Given the description of an element on the screen output the (x, y) to click on. 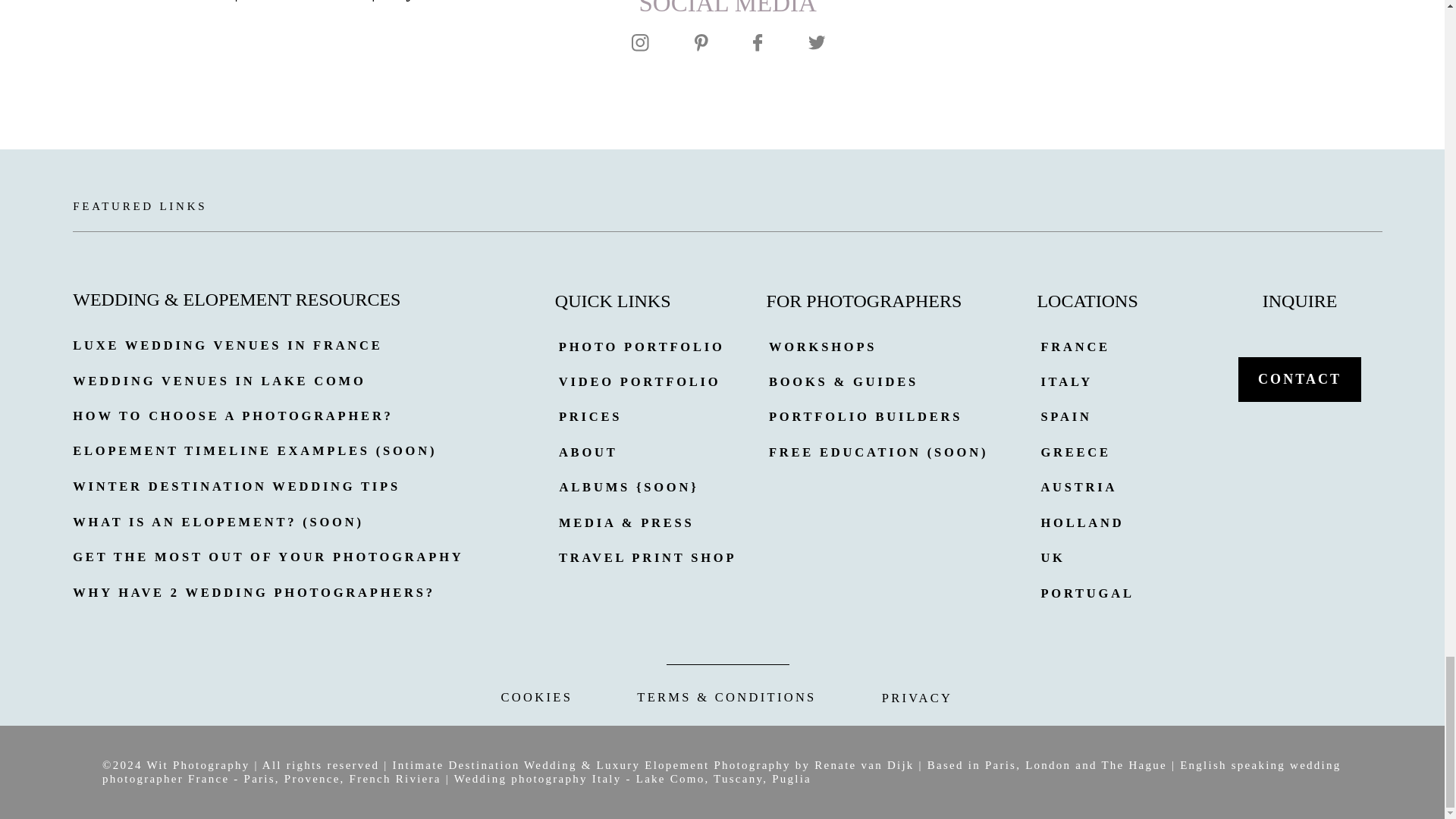
Paris (210, 1)
Italy (397, 1)
South of France (304, 1)
